Given the description of an element on the screen output the (x, y) to click on. 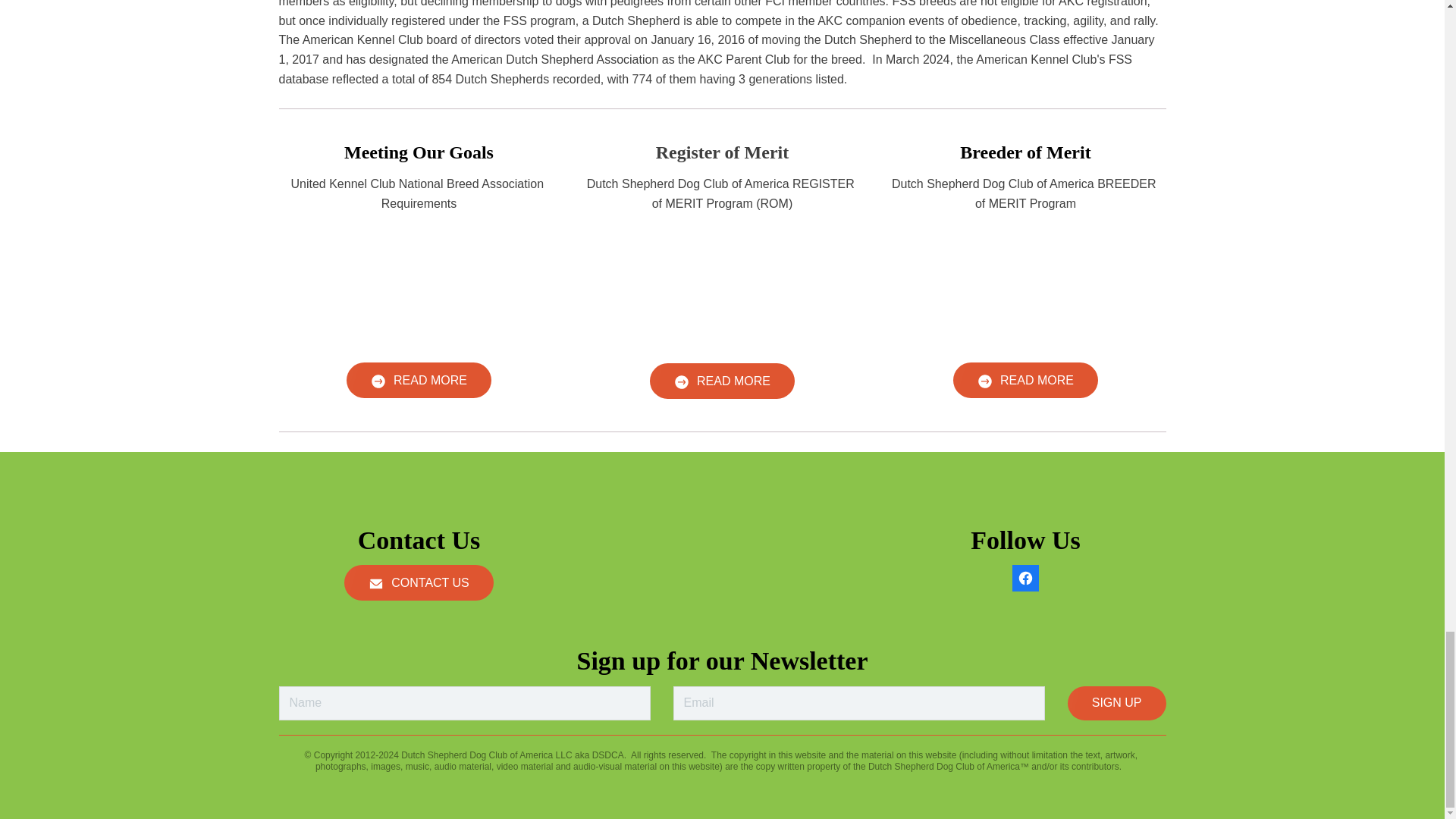
READ MORE (721, 380)
READ MORE (1025, 380)
READ MORE (419, 380)
SIGN UP (1116, 703)
CONTACT US (418, 582)
